Given the description of an element on the screen output the (x, y) to click on. 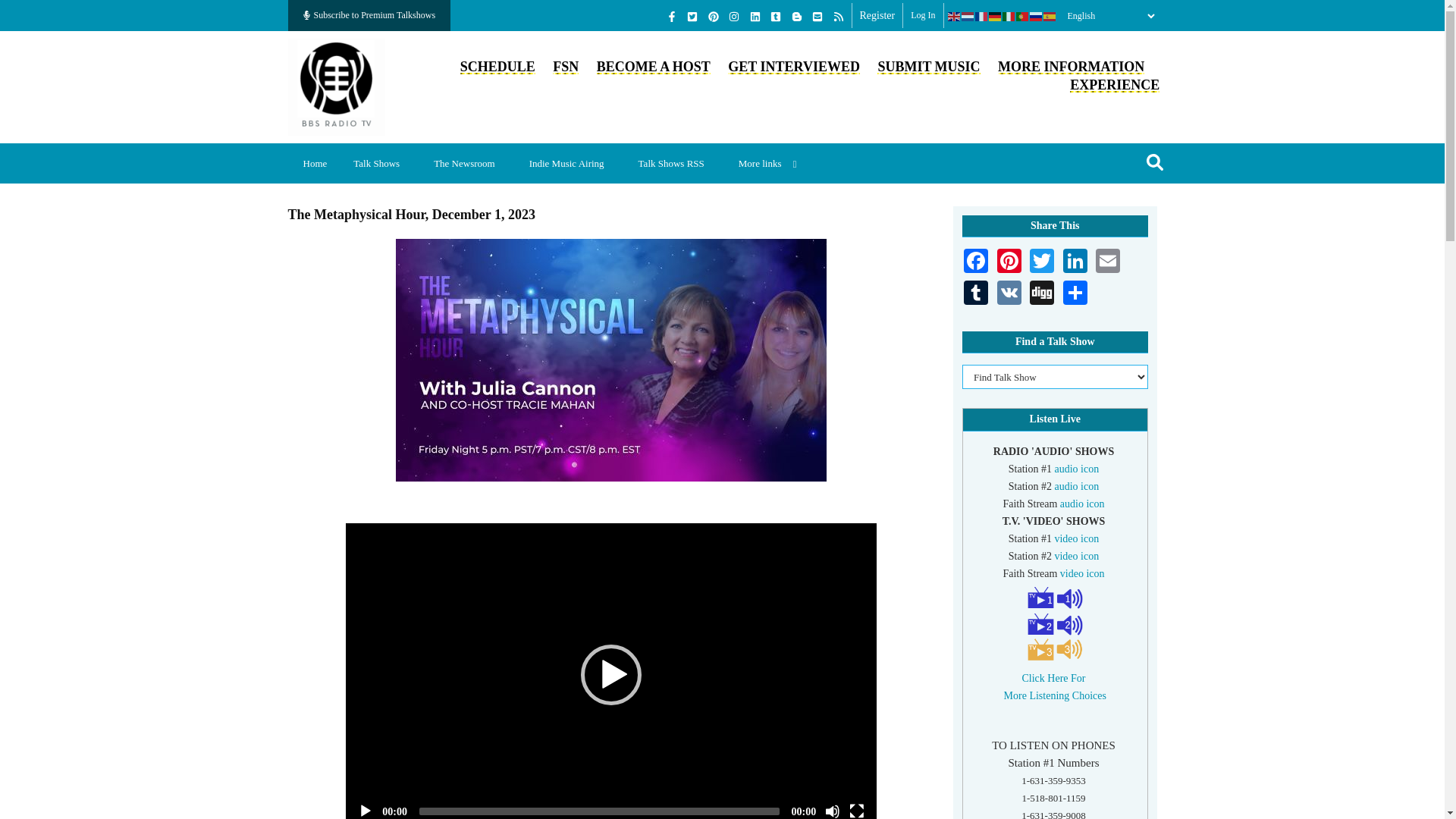
GET INTERVIEWED (794, 66)
BECOME A HOST (653, 66)
Nederlands (967, 15)
The Metaphysical Hour with Julia Cannon and Tracie Mahan (611, 360)
Talk Shows (382, 163)
English (953, 15)
The Experience of Live Talk Shows Done Right! (1114, 84)
Mute (832, 811)
FSN (565, 66)
SCHEDULE (497, 66)
Play (365, 811)
EXPERIENCE (1114, 84)
Deutsch (995, 15)
Home (336, 85)
